Given the description of an element on the screen output the (x, y) to click on. 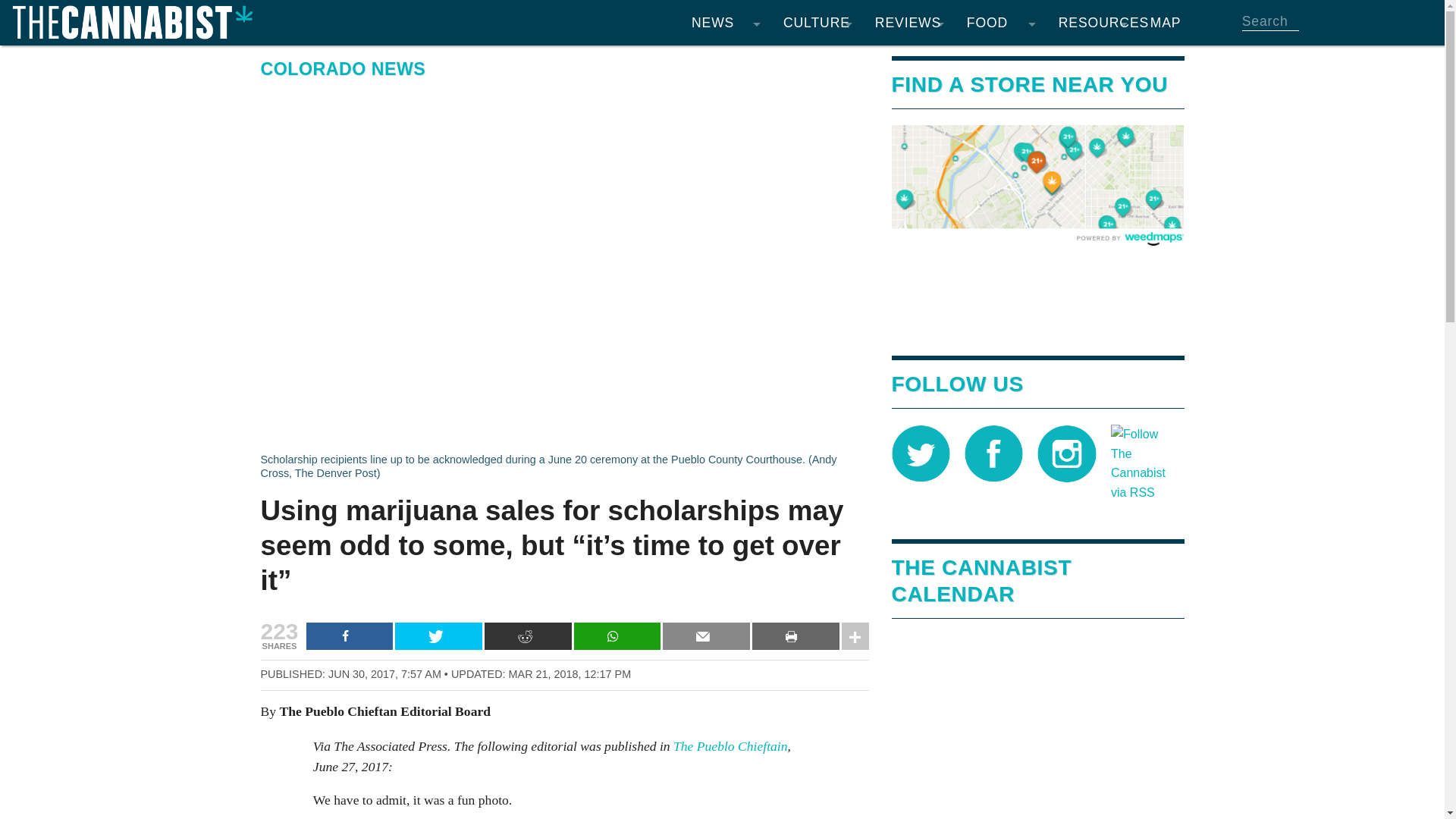
2015 (633, 303)
STYLE (817, 151)
THE CANNABIST SHOW (817, 333)
CALIFORNIA (725, 91)
WORLD CULTURE (817, 272)
FOOD (1000, 22)
WORLD NEWS (725, 151)
THE DENVER POST (725, 303)
ENTERTAINMENT (817, 60)
Follow The Cannabist on Twitter (920, 452)
